Given the description of an element on the screen output the (x, y) to click on. 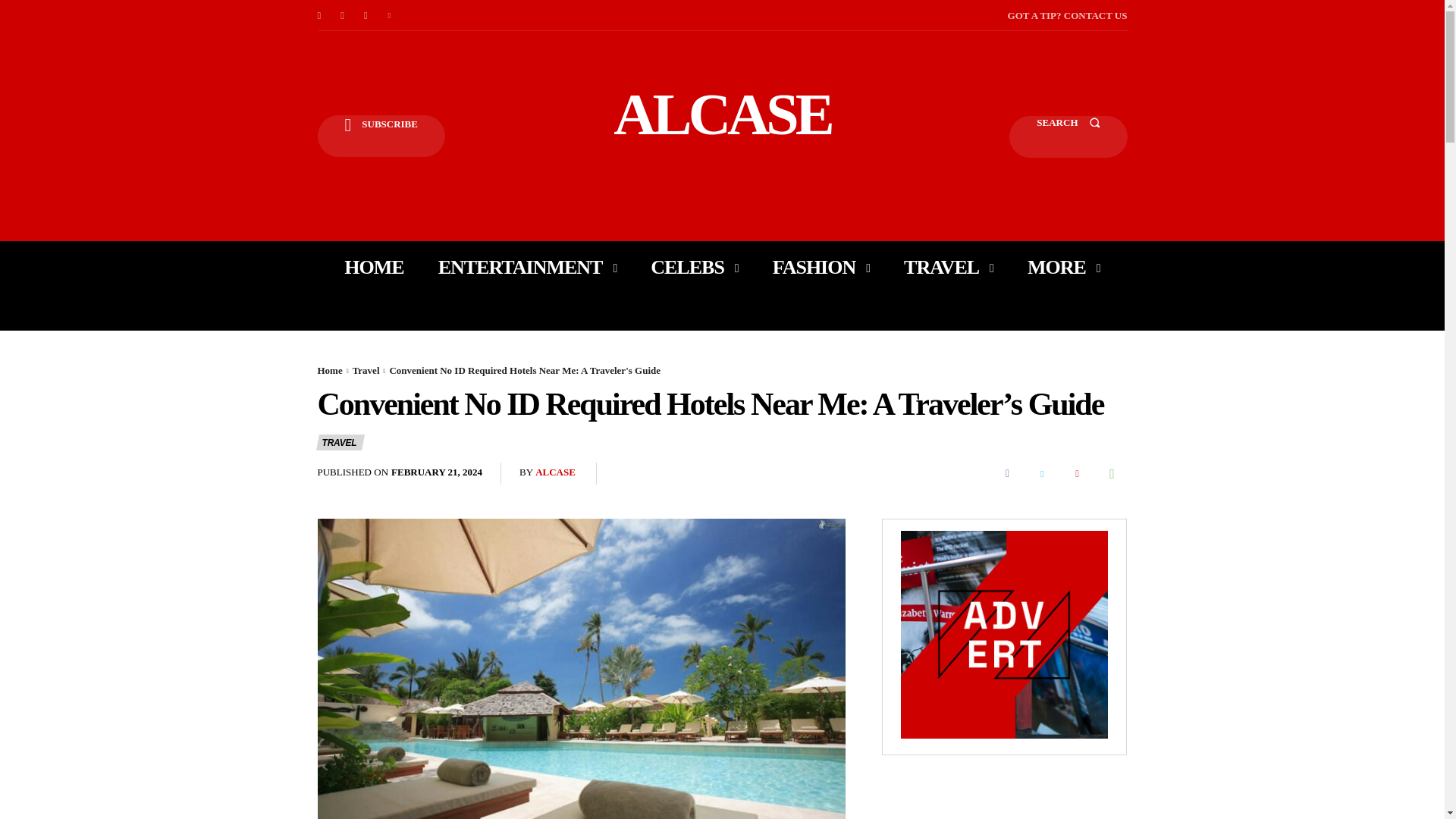
Facebook (318, 15)
Twitter (389, 15)
Instagram (342, 15)
GOT A TIP? CONTACT US (1066, 15)
SUBSCRIBE (380, 136)
ALCASE (722, 113)
SEARCH (1067, 137)
TikTok (366, 15)
